Given the description of an element on the screen output the (x, y) to click on. 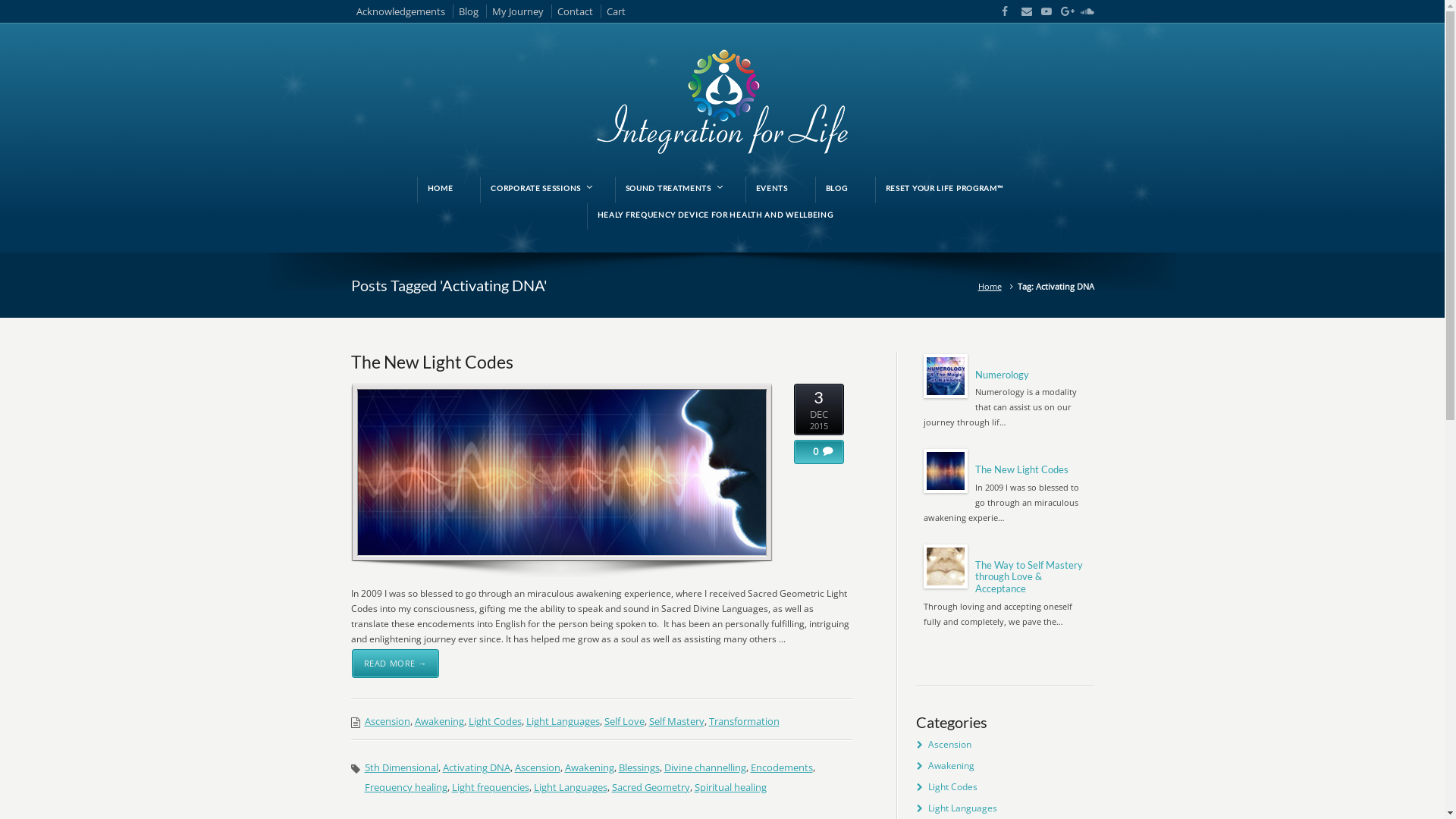
CORPORATE SESSIONS Element type: text (538, 187)
Divine channelling Element type: text (705, 767)
Cart Element type: text (615, 11)
Light frequencies Element type: text (490, 786)
Self Love Element type: text (623, 721)
Ascension Element type: text (386, 721)
BLOG Element type: text (836, 187)
Frequency healing Element type: text (405, 786)
Activating DNA Element type: text (476, 767)
Home Element type: text (992, 285)
Google+ Element type: text (1061, 10)
Sacred Geometry Element type: text (650, 786)
Blessings Element type: text (638, 767)
Ascension Element type: text (536, 767)
My Journey Element type: text (521, 11)
Light Codes Element type: text (494, 721)
Acknowledgements Element type: text (404, 11)
Light Codes Element type: text (952, 786)
Self Mastery Element type: text (676, 721)
0 Element type: text (811, 451)
Facebook Element type: text (1002, 10)
Light Languages Element type: text (570, 786)
Light Languages Element type: text (562, 721)
Light Languages Element type: text (962, 807)
Contact Element type: text (578, 11)
Awakening Element type: text (438, 721)
Spiritual healing Element type: text (730, 786)
HOME Element type: text (440, 187)
HEALY FREQUENCY DEVICE FOR HEALTH AND WELLBEING Element type: text (715, 214)
EVENTS Element type: text (771, 187)
The New Light Codes Element type: text (431, 361)
Email Element type: text (1021, 10)
Transformation Element type: text (743, 721)
Awakening Element type: text (951, 765)
SOUND TREATMENTS Element type: text (671, 187)
Blog Element type: text (472, 11)
Encodements Element type: text (781, 767)
Awakening Element type: text (588, 767)
SoundCloud Element type: text (1080, 10)
Ascension Element type: text (949, 743)
YouTube Element type: text (1041, 10)
5th Dimensional Element type: text (400, 767)
